Given the description of an element on the screen output the (x, y) to click on. 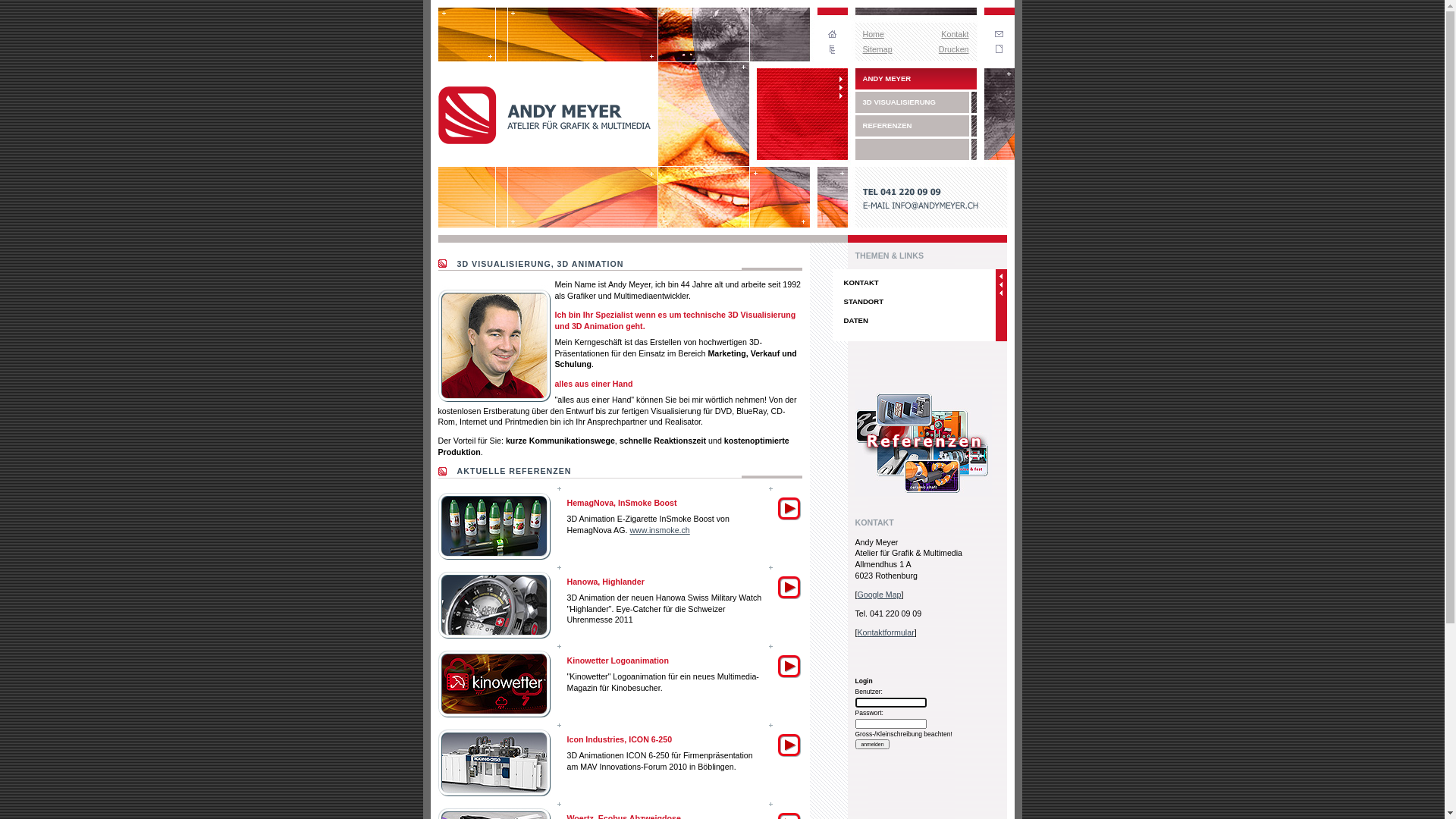
Google Map Element type: text (878, 594)
Sitemap Element type: text (877, 48)
STANDORT Element type: text (913, 301)
REFERENZEN Element type: text (915, 125)
Drucken Element type: text (953, 48)
Kontakt Element type: text (954, 33)
KONTAKT Element type: text (913, 282)
anmelden Element type: text (872, 744)
3D VISUALISIERUNG Element type: text (915, 101)
Kontaktformular Element type: text (884, 632)
DATEN Element type: text (913, 320)
ANDY MEYER Element type: text (915, 78)
Home Element type: text (873, 33)
www.insmoke.ch Element type: text (659, 529)
./3d_grafik_animation_multimedia.php5 Element type: hover (923, 492)
